Given the description of an element on the screen output the (x, y) to click on. 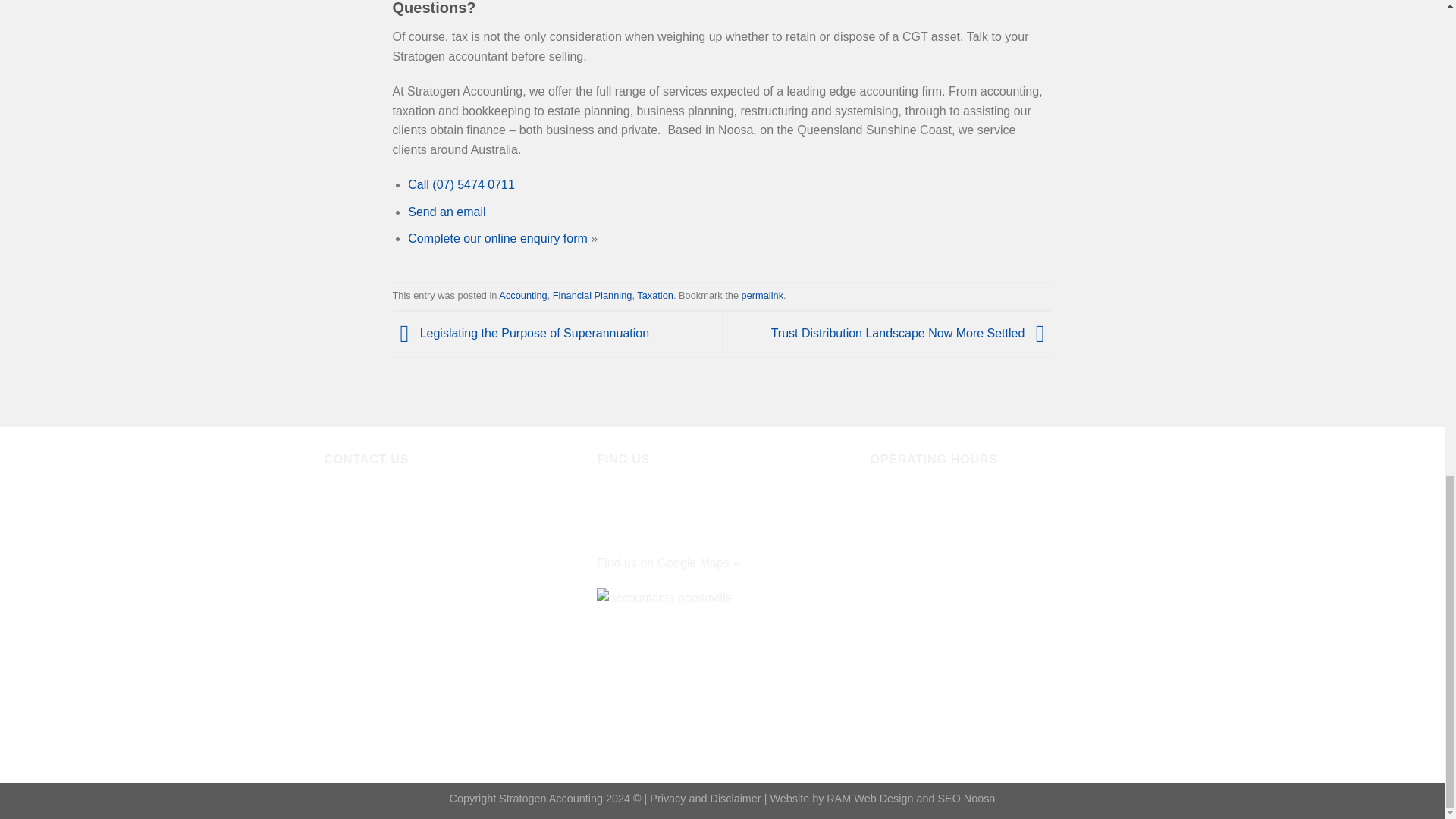
Send an Email (363, 680)
Financial Planning (592, 295)
Privacy and Disclaimer (704, 798)
Legislating the Purpose of Superannuation (521, 332)
Permalink to Crystalising Capital Losses (762, 295)
permalink (762, 295)
RAM Web Design and SEO Noosa (910, 798)
Complete our online enquiry form (497, 237)
Taxation (654, 295)
Find us on Google Maps (662, 562)
Send an email (445, 211)
Trust Distribution Landscape Now More Settled (911, 332)
Accounting (523, 295)
